Given the description of an element on the screen output the (x, y) to click on. 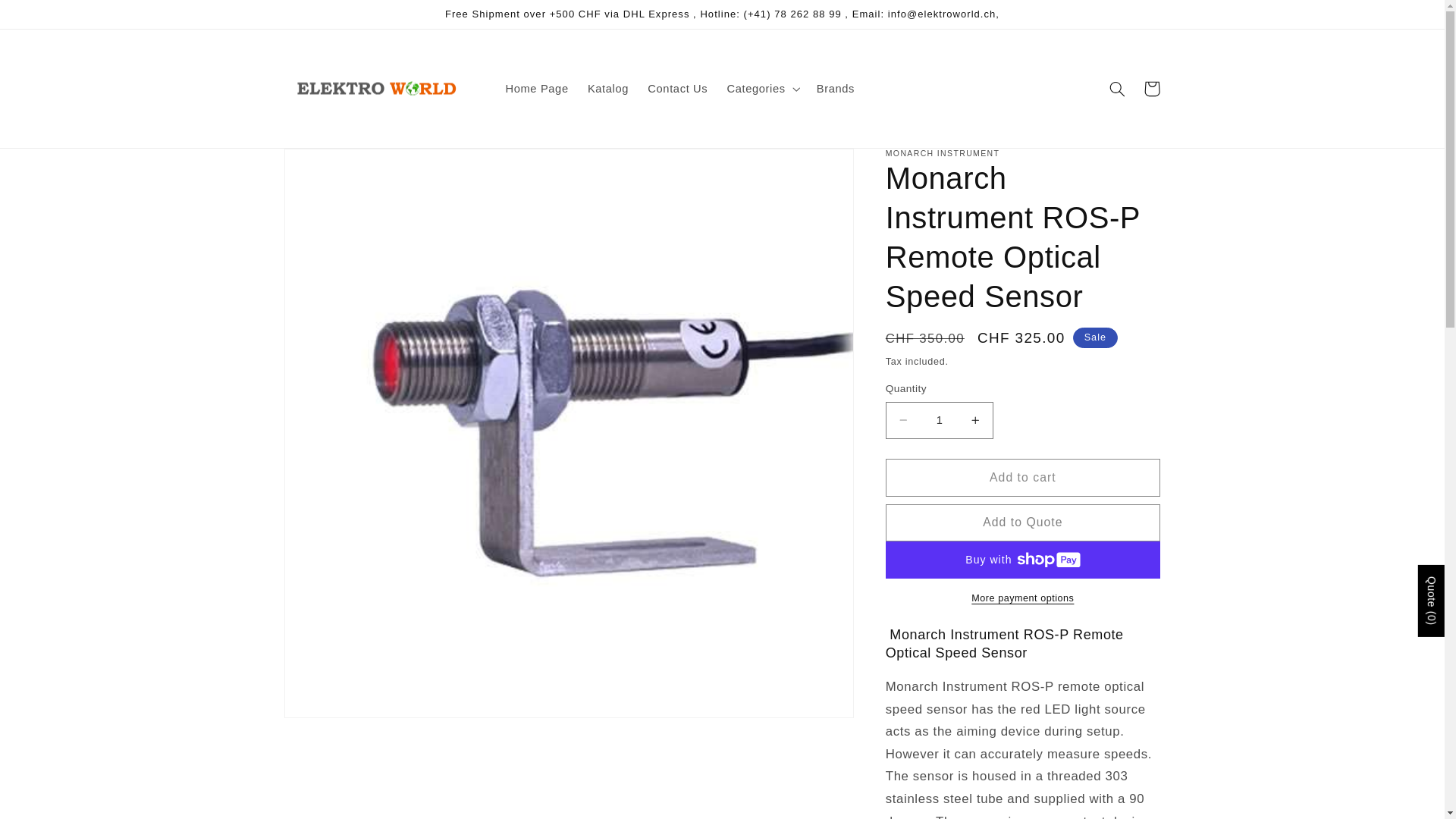
1 (939, 420)
Skip to content (48, 18)
